Given the description of an element on the screen output the (x, y) to click on. 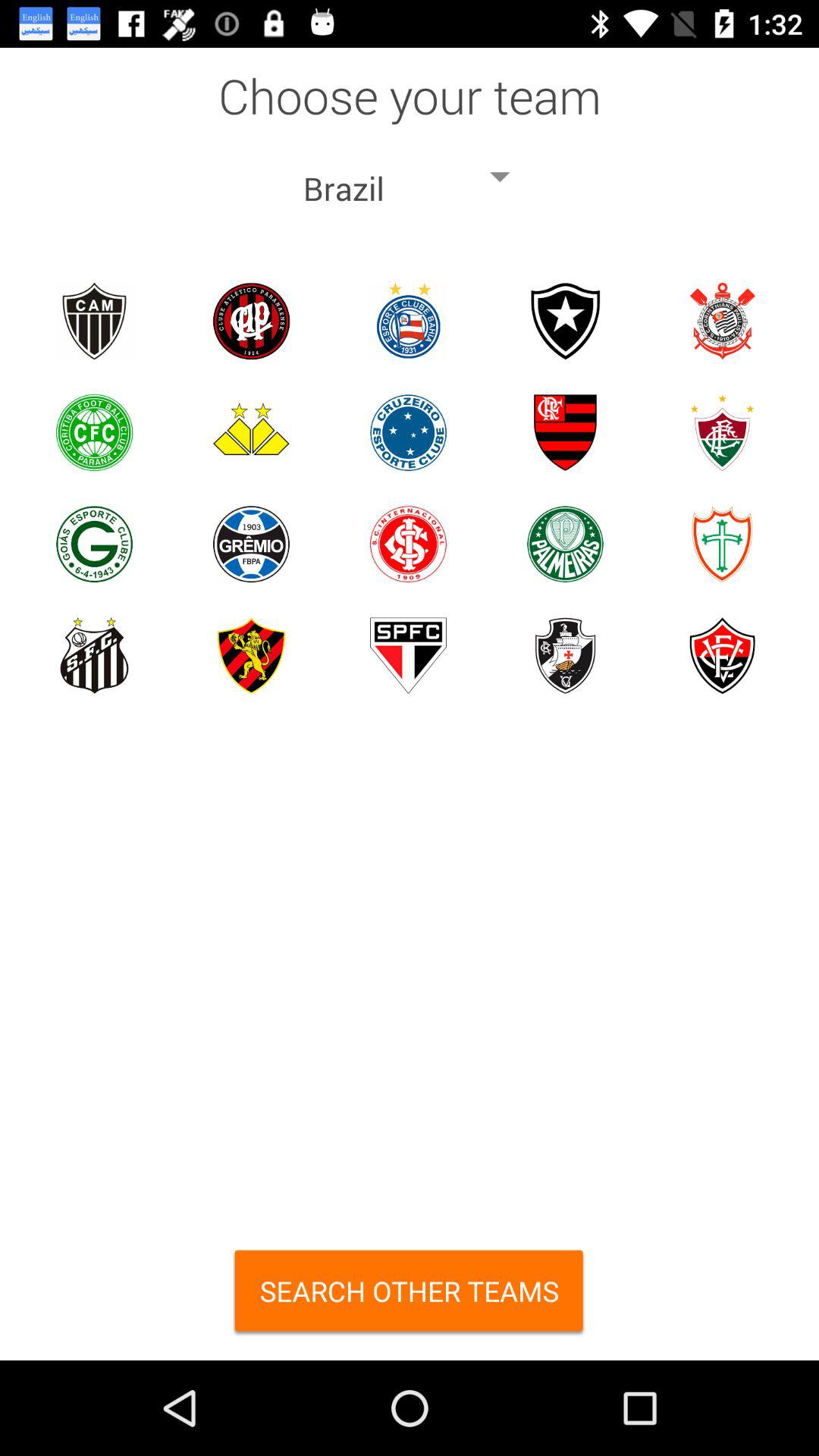
select team (251, 432)
